Given the description of an element on the screen output the (x, y) to click on. 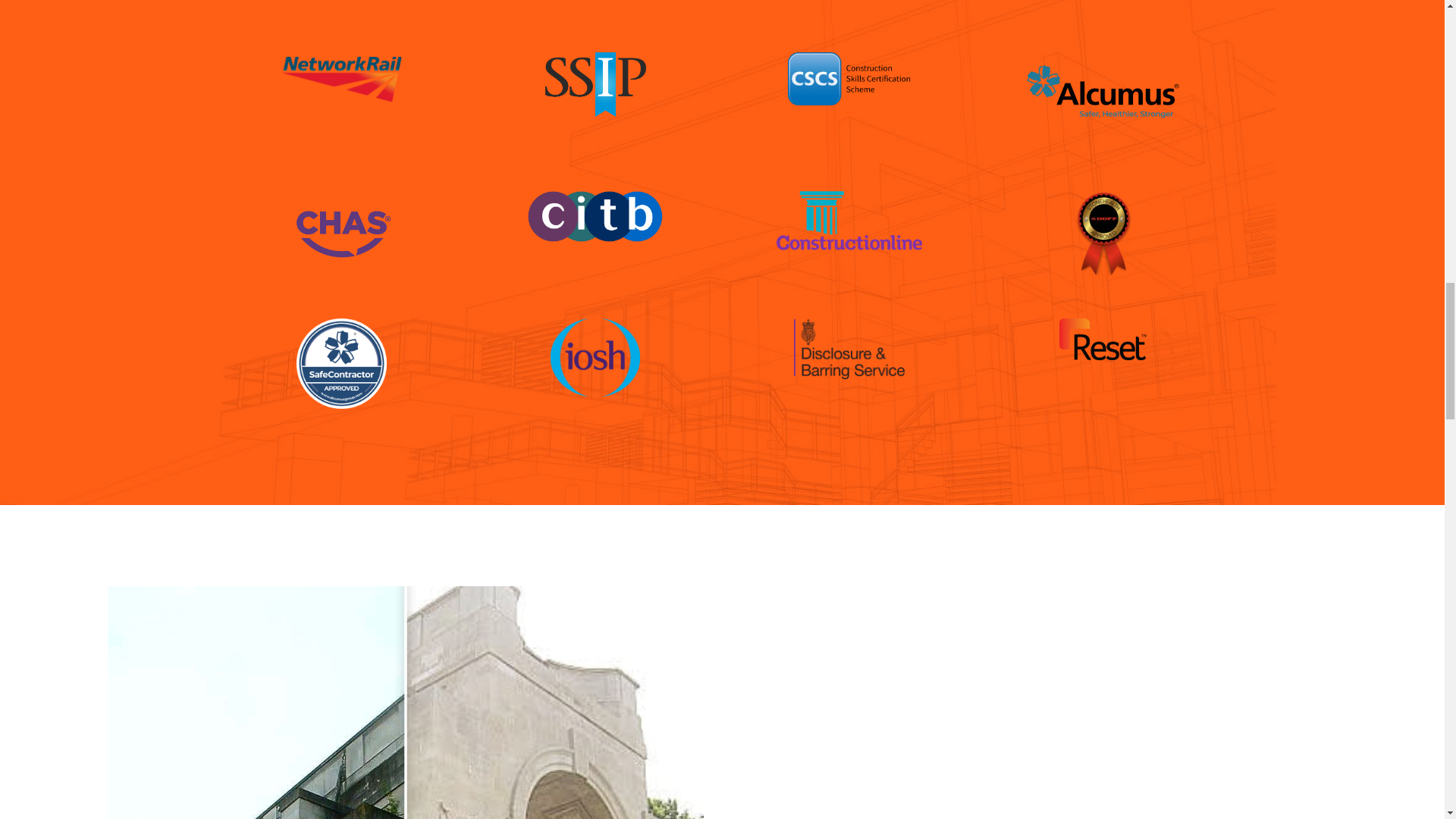
ssiplogo (595, 84)
CHAS-LOGON (342, 233)
alcumus-logo (1102, 91)
